Given the description of an element on the screen output the (x, y) to click on. 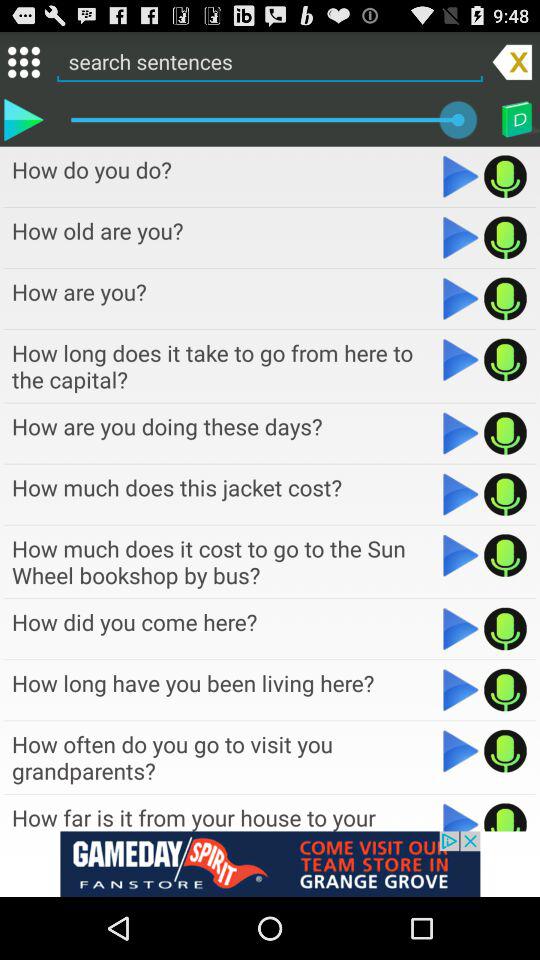
play audio (460, 298)
